Given the description of an element on the screen output the (x, y) to click on. 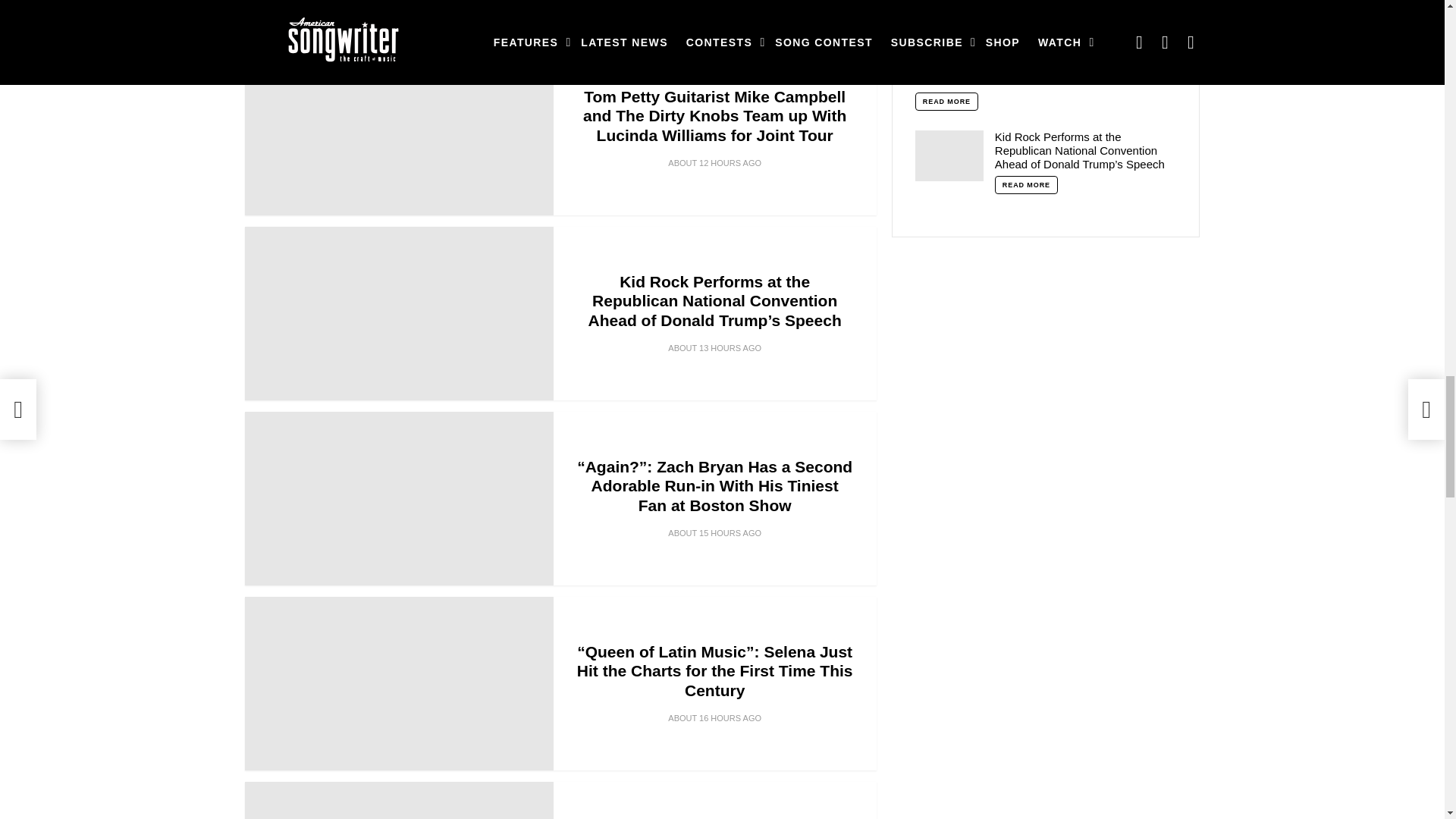
July 18, 2024, 3:00 pm (714, 717)
July 18, 2024, 6:01 pm (714, 347)
July 18, 2024, 4:10 pm (714, 532)
July 18, 2024, 6:51 pm (714, 162)
